Given the description of an element on the screen output the (x, y) to click on. 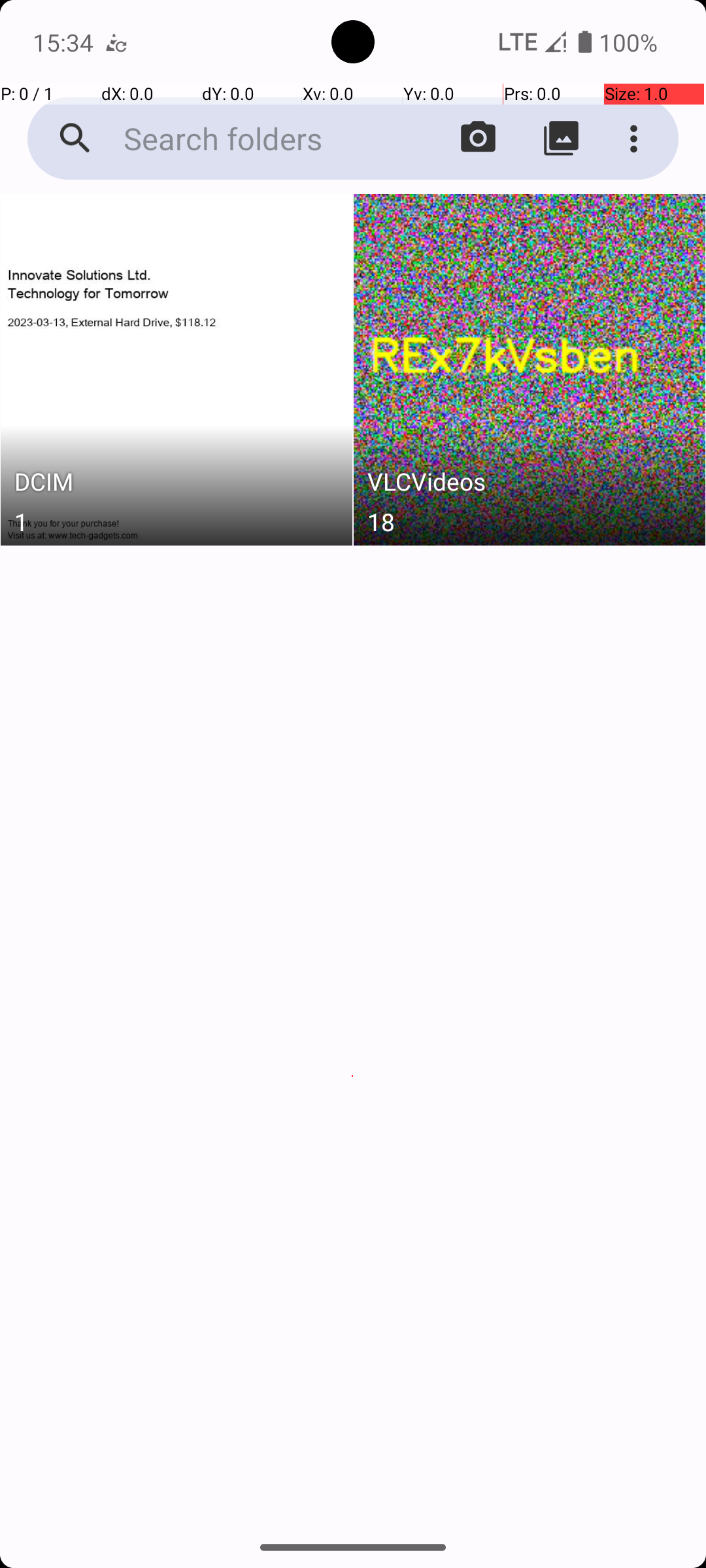
Open camera Element type: android.widget.Button (477, 138)
Show all folders content Element type: android.widget.Button (560, 138)
VLCVideos Element type: android.widget.TextView (529, 484)
